Given the description of an element on the screen output the (x, y) to click on. 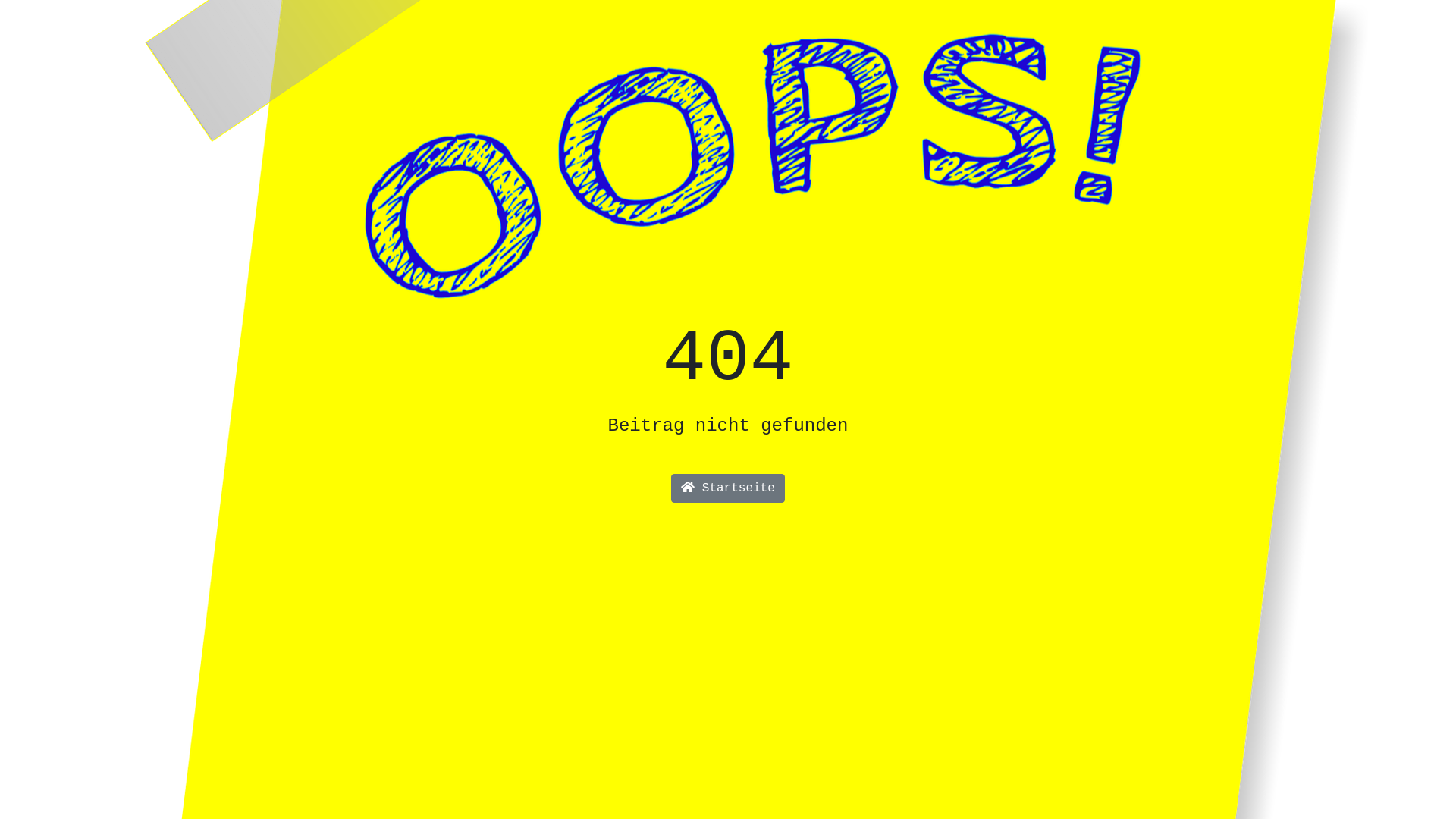
Startseite Element type: text (727, 487)
